Given the description of an element on the screen output the (x, y) to click on. 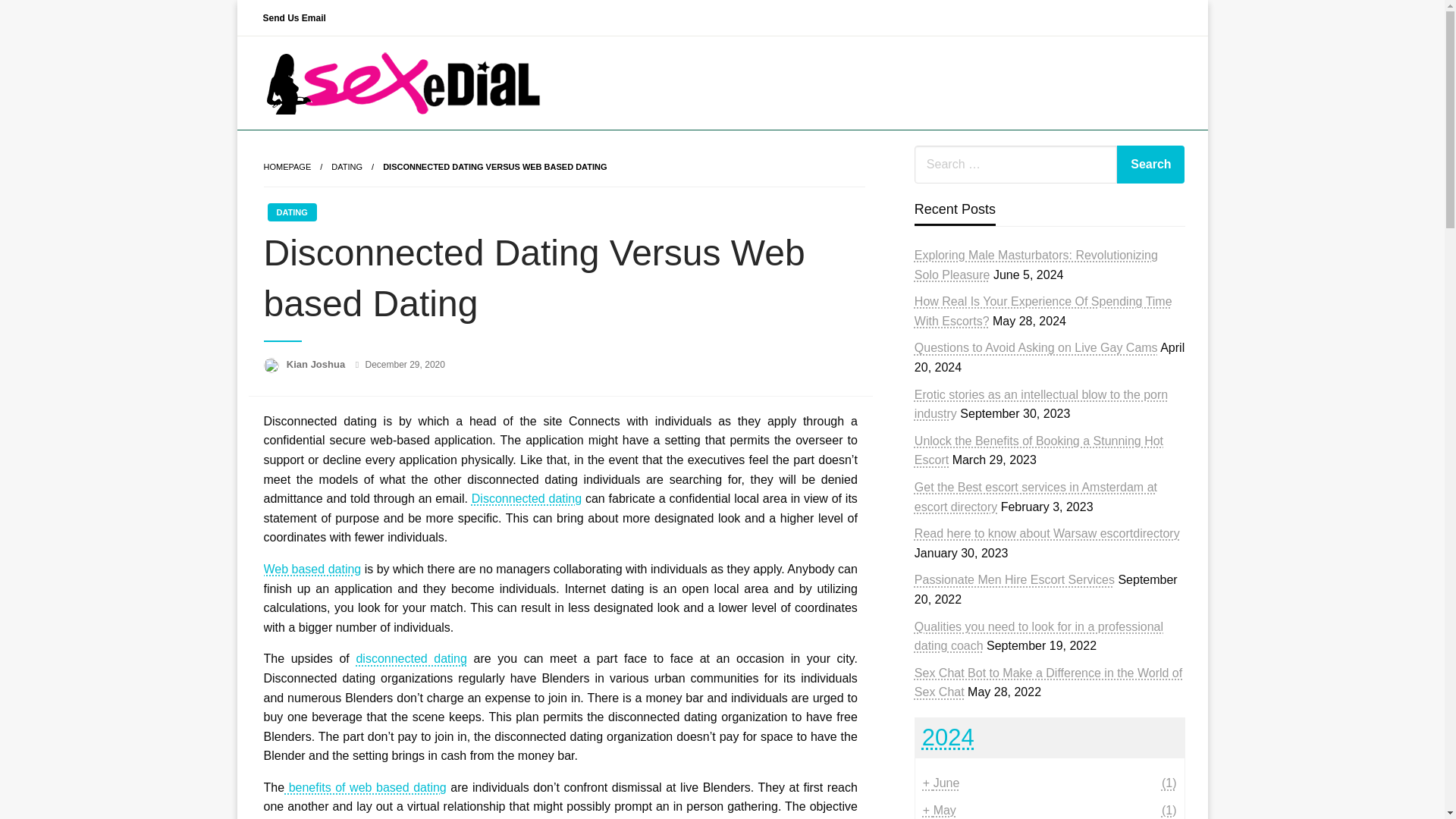
December 29, 2020 (405, 364)
Search (1150, 164)
Kian Joshua (316, 364)
Homepage (287, 166)
Disconnected dating (525, 498)
disconnected dating (411, 658)
DATING (290, 212)
Search (1150, 164)
Dating (346, 166)
HOMEPAGE (287, 166)
